Given the description of an element on the screen output the (x, y) to click on. 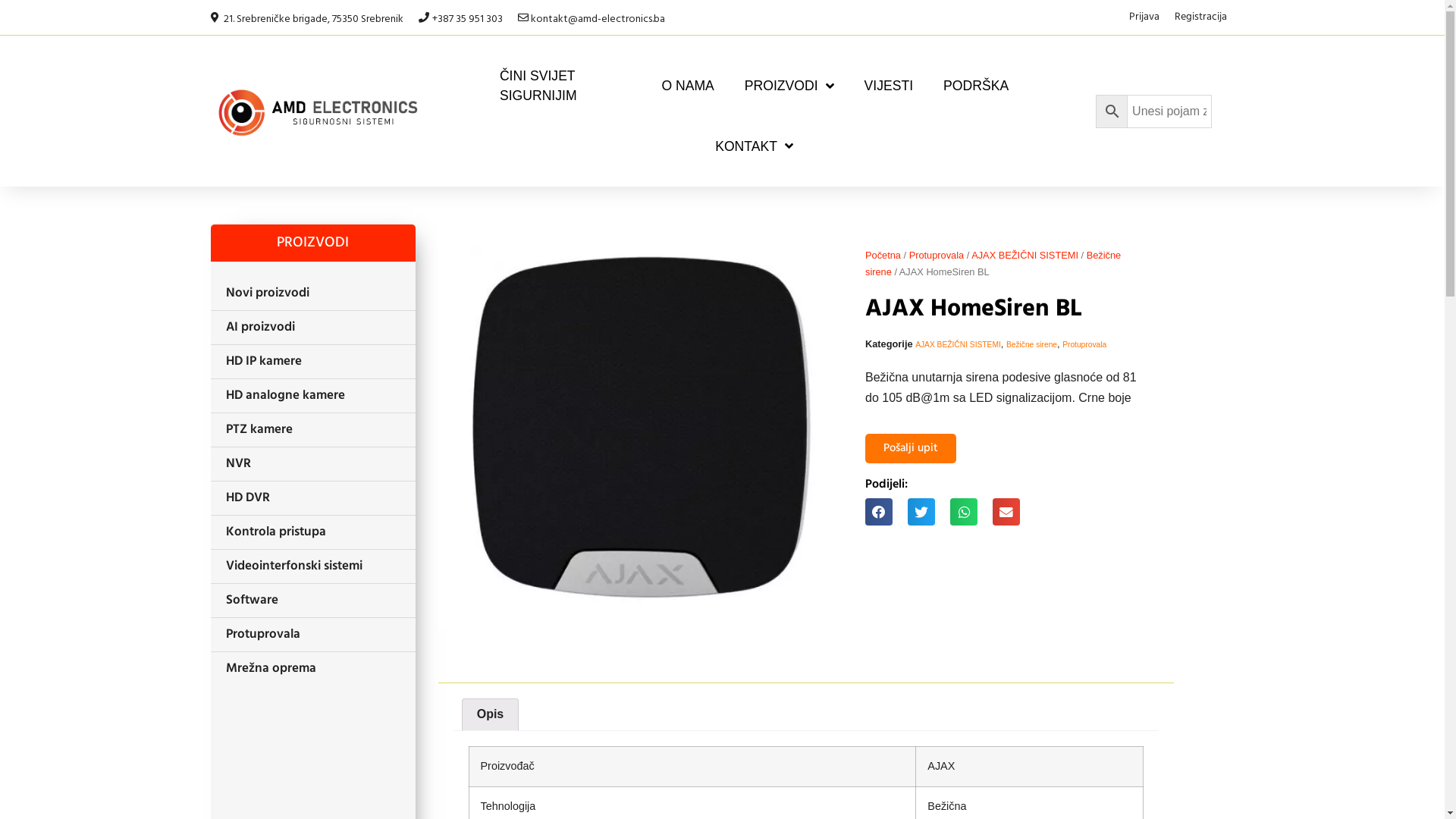
Protuprovala Element type: text (936, 254)
Software Element type: text (312, 600)
HD IP kamere Element type: text (312, 361)
PTZ kamere Element type: text (312, 429)
Prijava Element type: text (1143, 17)
AI proizvodi Element type: text (312, 327)
PROIZVODI Element type: text (312, 242)
KONTAKT Element type: text (753, 146)
VIJESTI Element type: text (888, 85)
NVR Element type: text (312, 463)
Protuprovala Element type: text (312, 634)
Novi proizvodi Element type: text (312, 293)
Registracija Element type: text (1199, 17)
Protuprovala Element type: text (1084, 344)
PROIZVODI Element type: text (789, 85)
HD DVR Element type: text (312, 497)
HD analogne kamere Element type: text (312, 395)
Opis Element type: text (490, 715)
O NAMA Element type: text (687, 85)
Videointerfonski sistemi Element type: text (312, 566)
kontakt@amd-electronics.ba Element type: text (591, 17)
Kontrola pristupa Element type: text (312, 532)
